Given the description of an element on the screen output the (x, y) to click on. 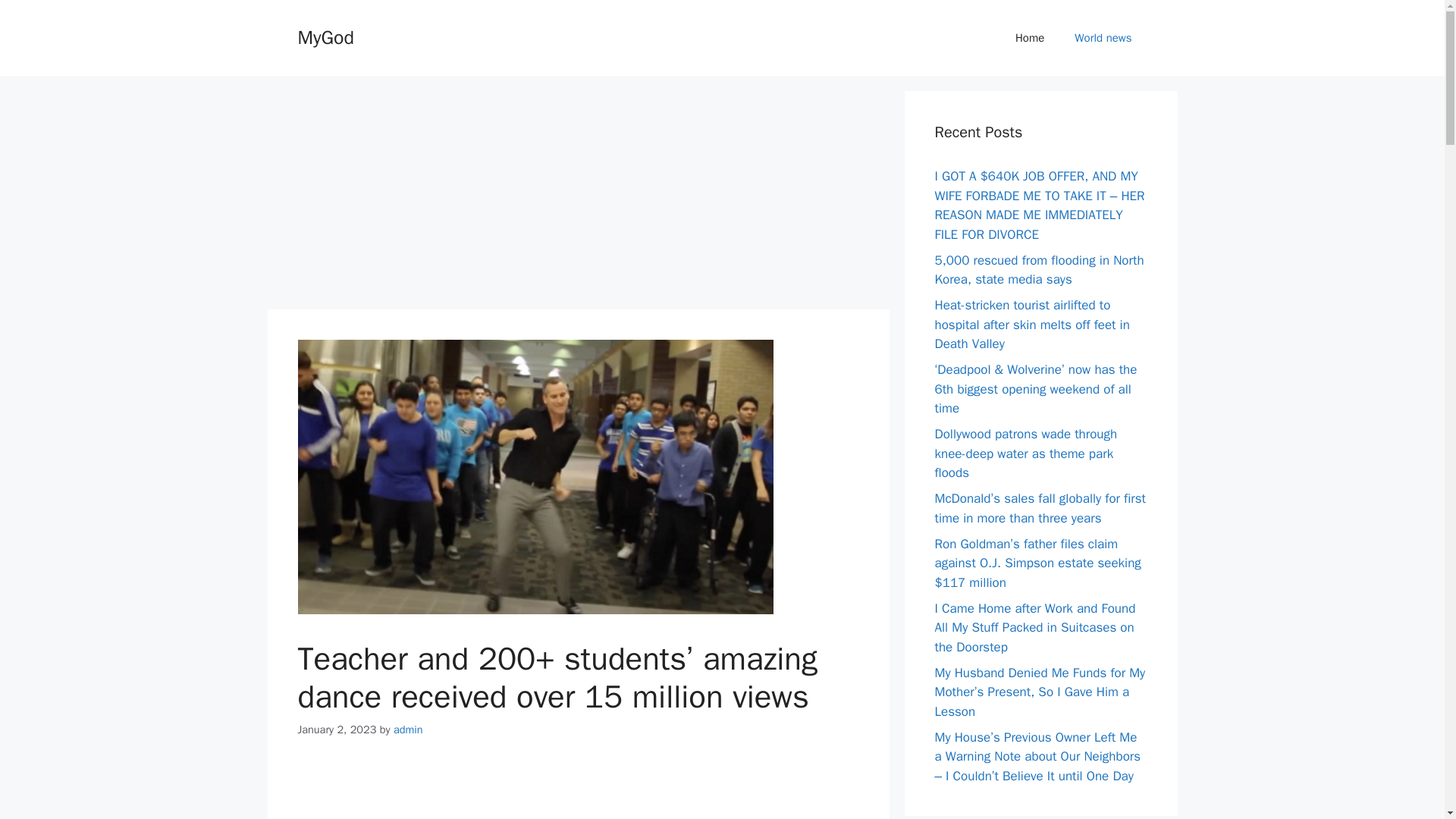
5,000 rescued from flooding in North Korea, state media says (1038, 269)
View all posts by admin (408, 729)
admin (408, 729)
World news (1103, 37)
Home (1029, 37)
Advertisement (577, 196)
Advertisement (576, 791)
MyGod (325, 37)
